Given the description of an element on the screen output the (x, y) to click on. 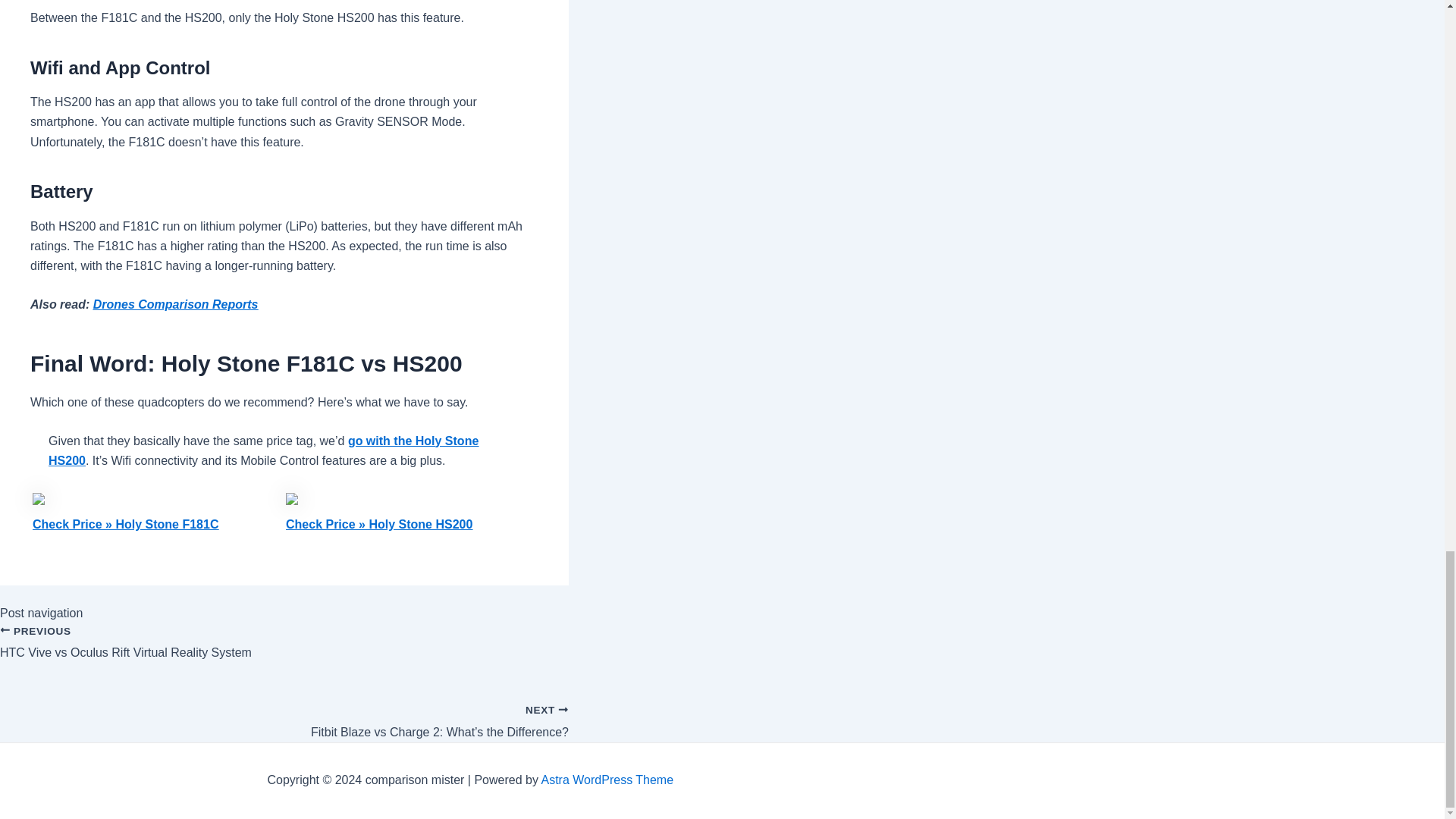
go with the Holy Stone HS200 (263, 450)
Drones Comparison Reports (176, 304)
HTC Vive vs Oculus Rift Virtual Reality System (284, 651)
Astra WordPress Theme (284, 651)
